Given the description of an element on the screen output the (x, y) to click on. 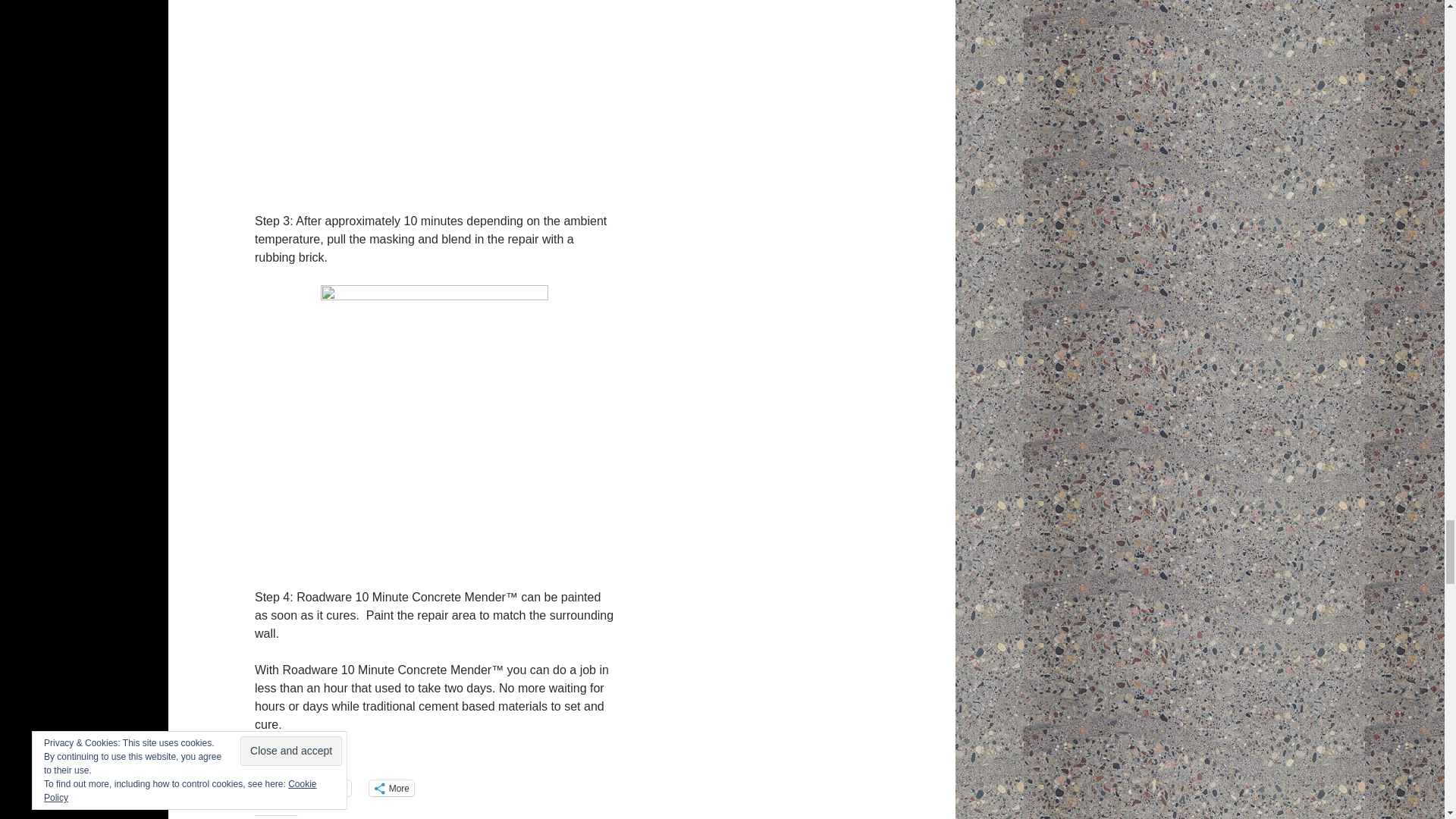
Click to print (276, 788)
Click to email a link to a friend (327, 788)
